Given the description of an element on the screen output the (x, y) to click on. 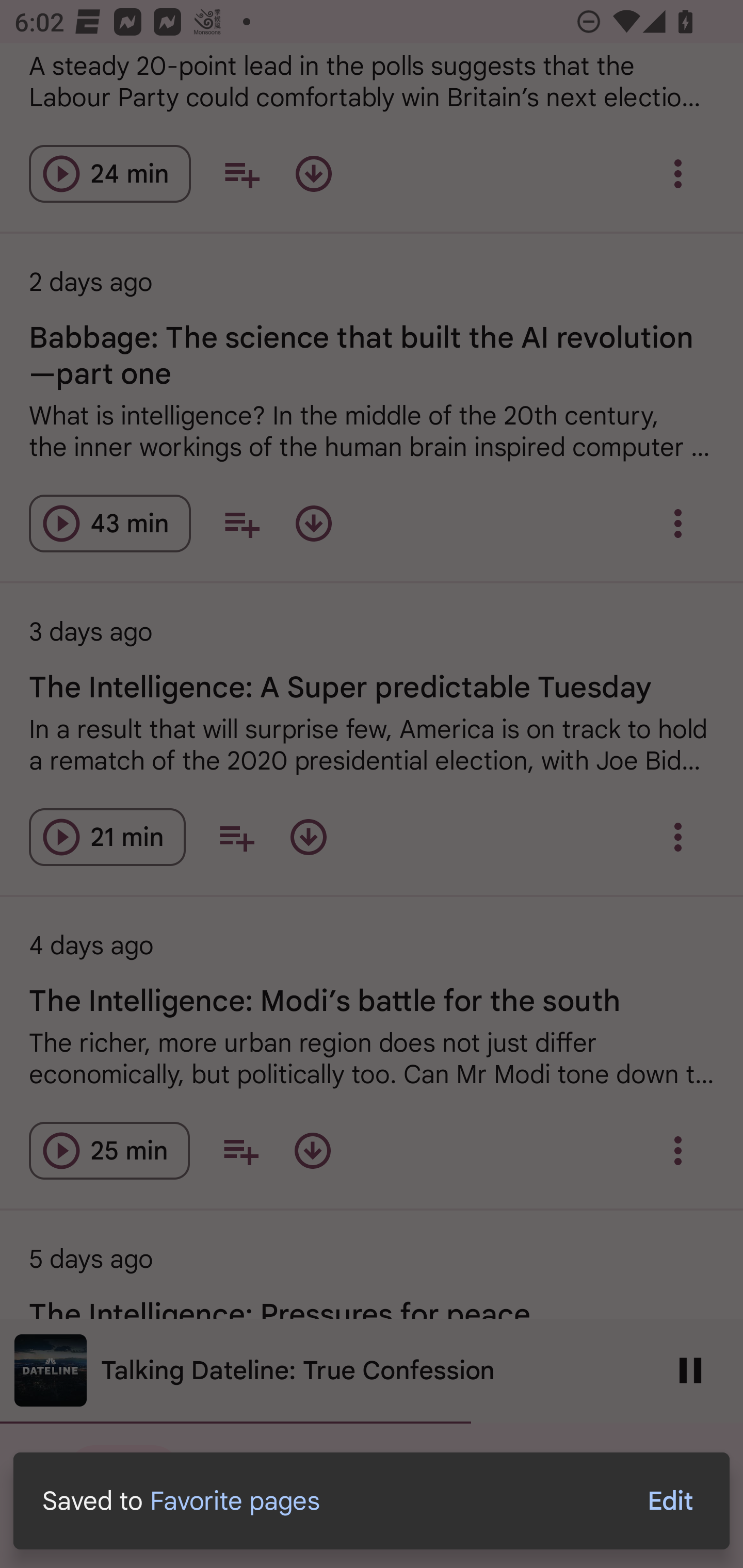
Favorite pages (234, 1500)
Edit (669, 1500)
